Given the description of an element on the screen output the (x, y) to click on. 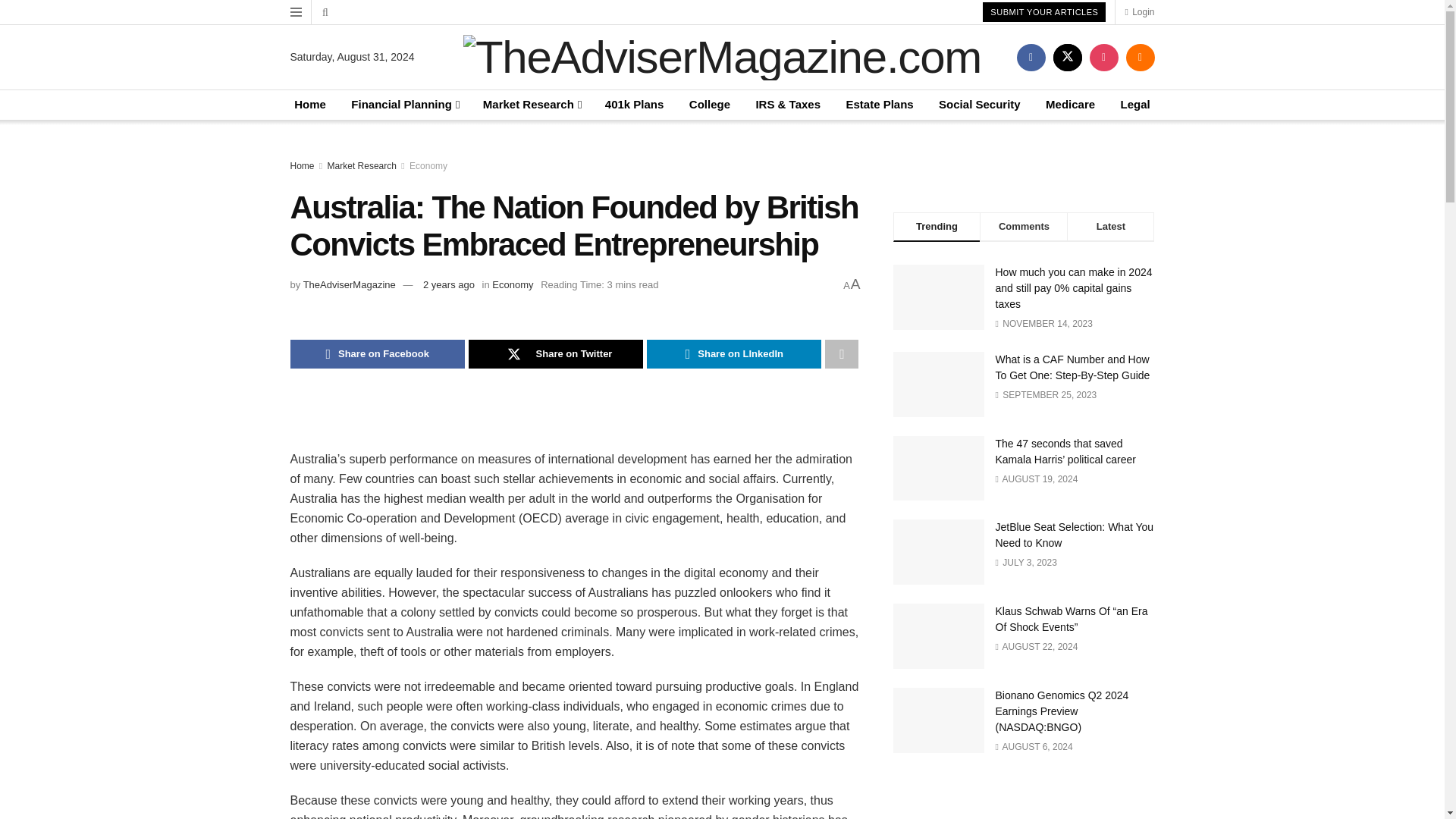
Login (1139, 12)
Medicare (1069, 104)
College (709, 104)
Home (310, 104)
Estate Plans (878, 104)
401k Plans (634, 104)
Social Security (979, 104)
SUBMIT YOUR ARTICLES (1043, 12)
Financial Planning (403, 104)
Legal (1135, 104)
